Given the description of an element on the screen output the (x, y) to click on. 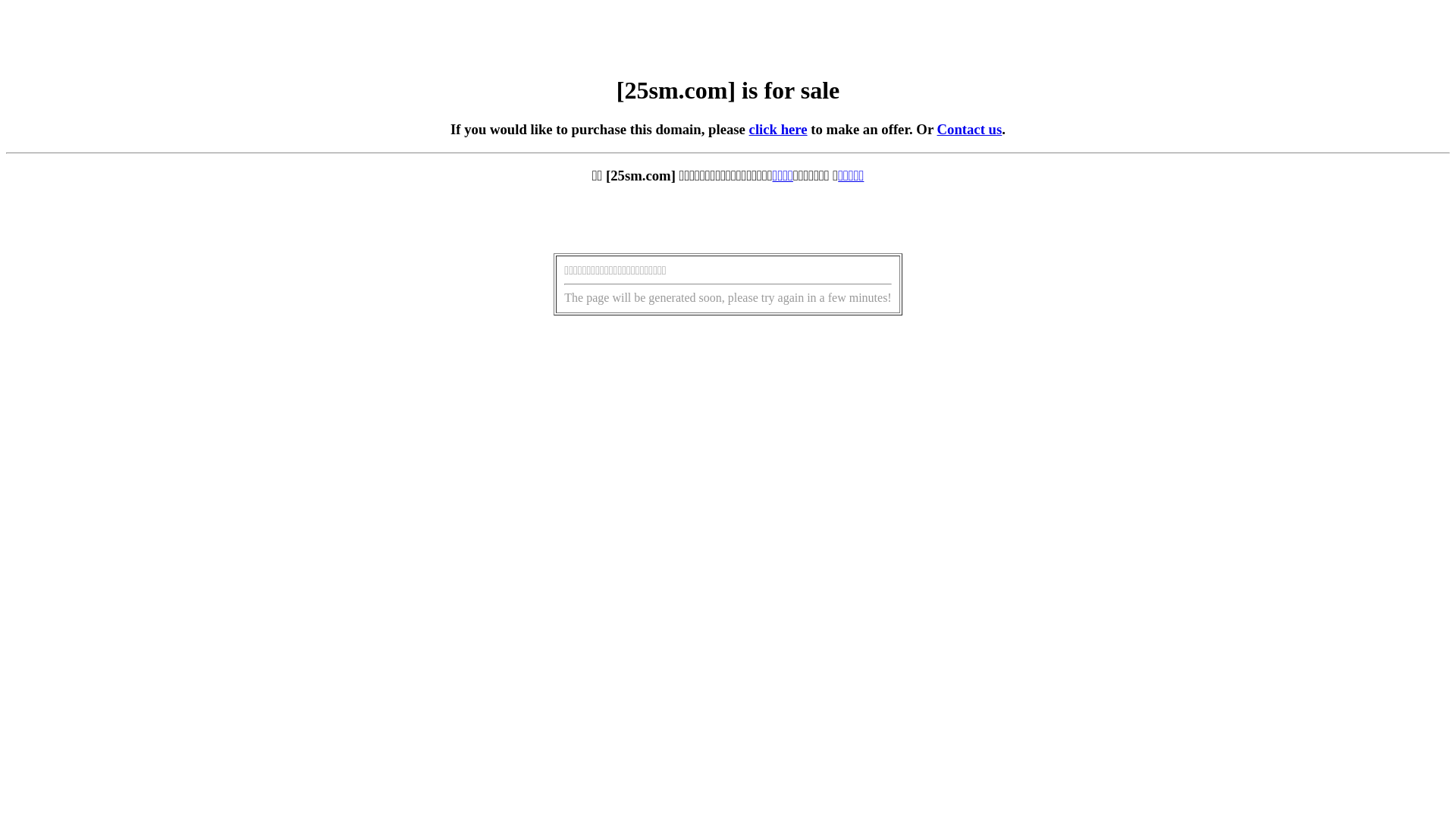
Contact us Element type: text (969, 129)
click here Element type: text (778, 129)
